Given the description of an element on the screen output the (x, y) to click on. 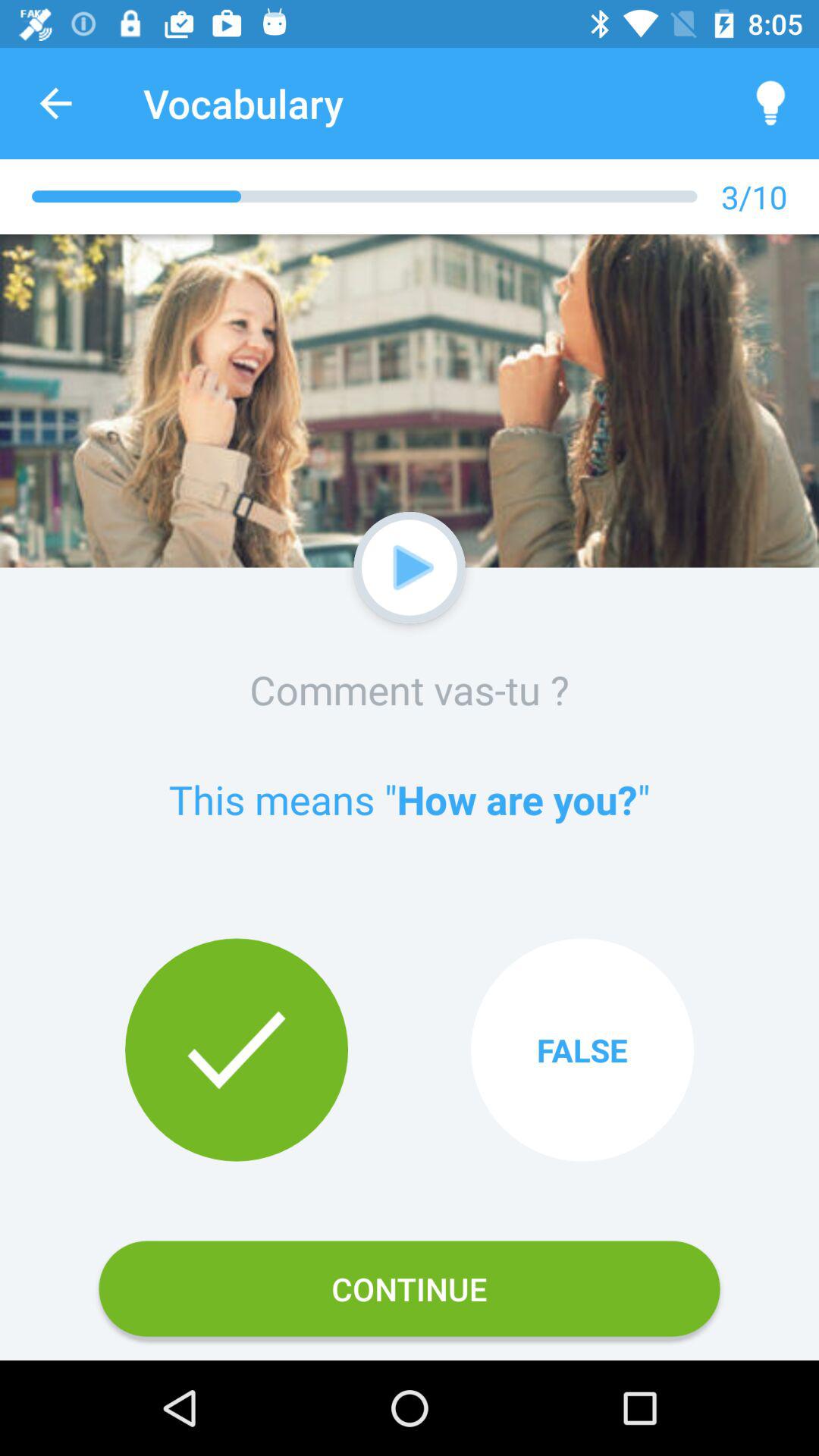
swipe to the continue item (409, 1288)
